Given the description of an element on the screen output the (x, y) to click on. 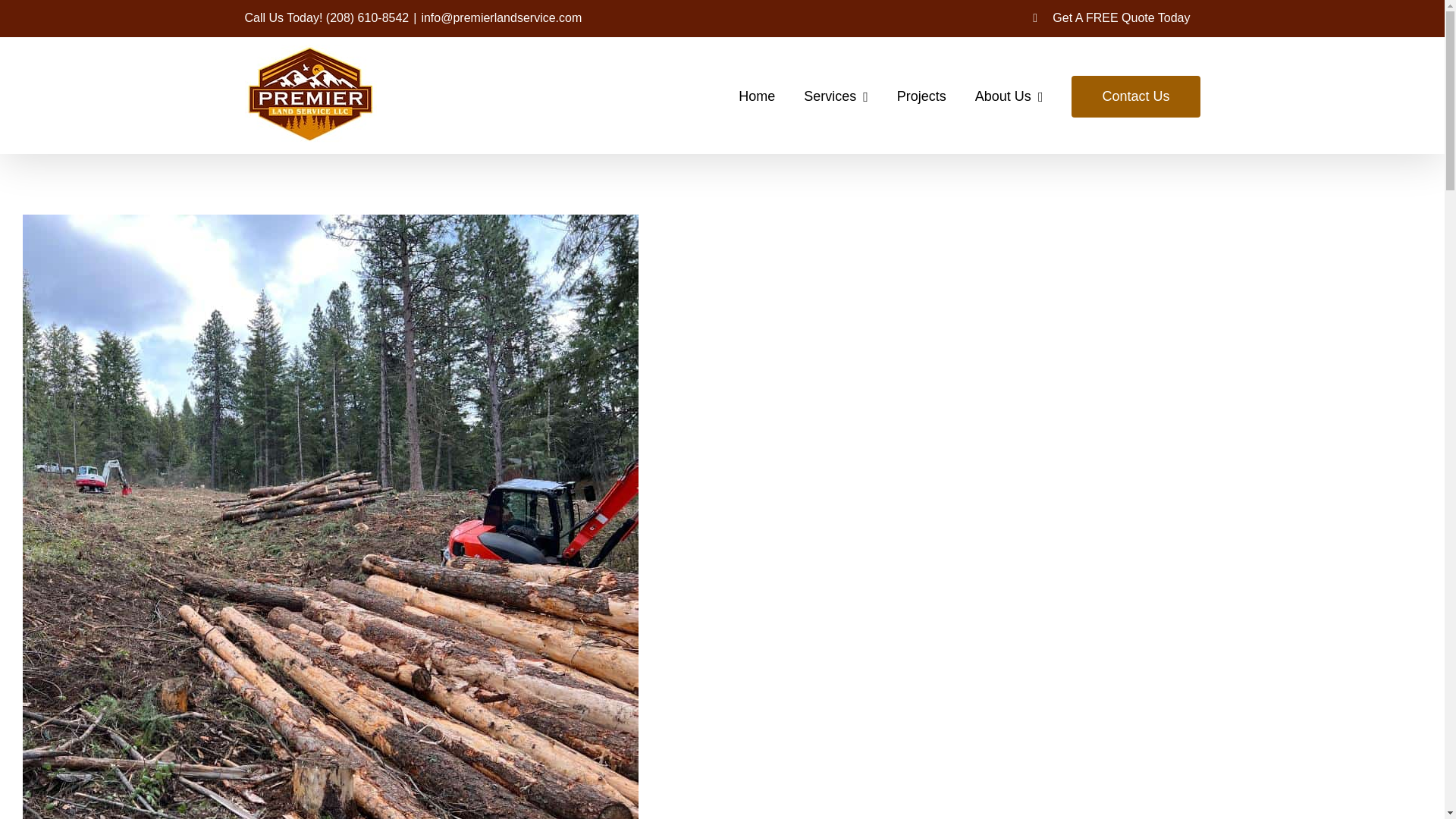
Get A FREE Quote Today (1111, 18)
Projects (921, 94)
Contact Us (1135, 94)
About Us (1009, 94)
Home (756, 94)
Services (835, 94)
